Given the description of an element on the screen output the (x, y) to click on. 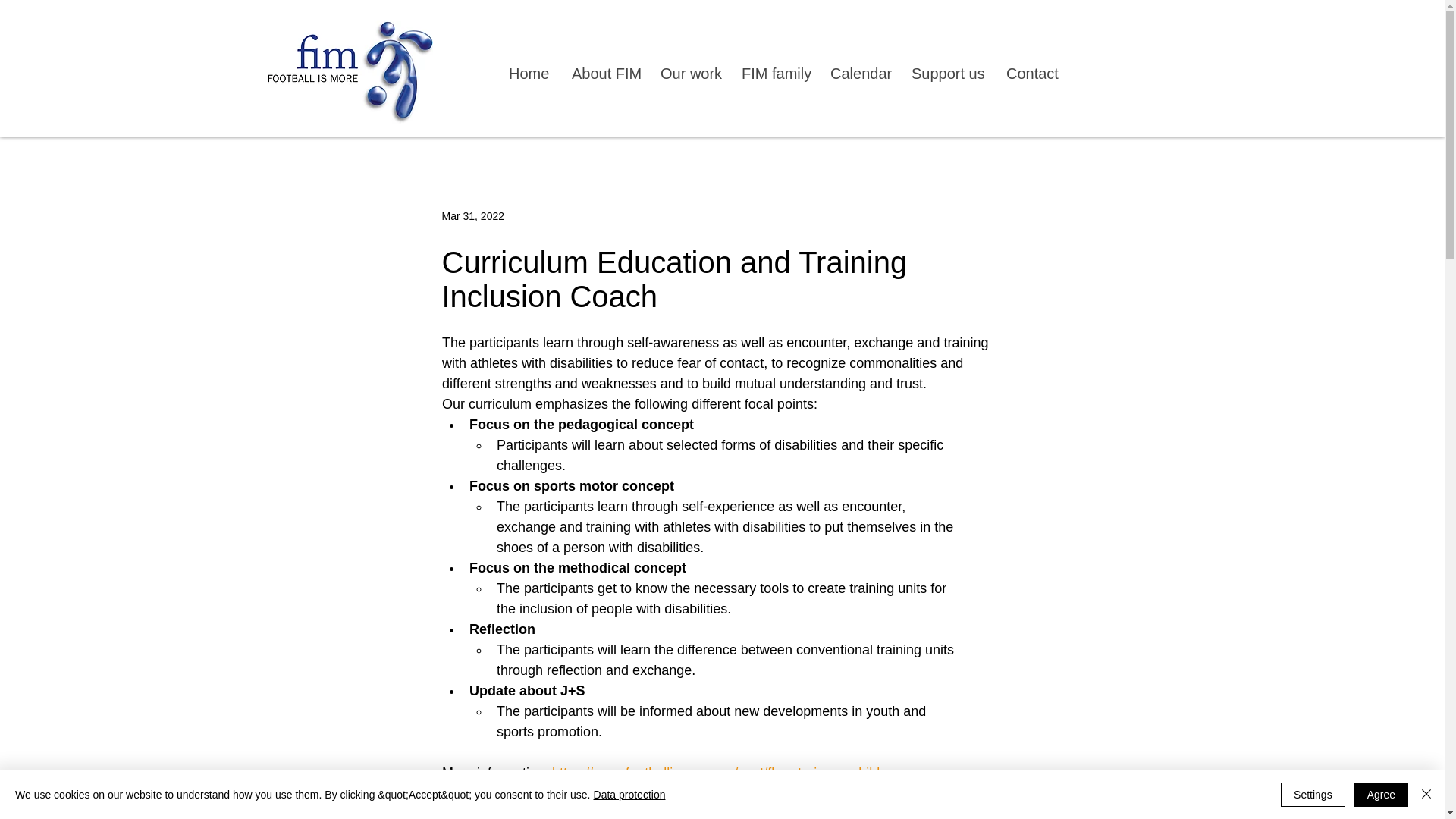
Support us (946, 73)
Our work (688, 73)
Settings (1313, 794)
Mar 31, 2022 (472, 215)
Agree (1380, 794)
About FIM (603, 73)
Calendar (858, 73)
Contact (1031, 73)
FIM family (773, 73)
Home (527, 73)
